Given the description of an element on the screen output the (x, y) to click on. 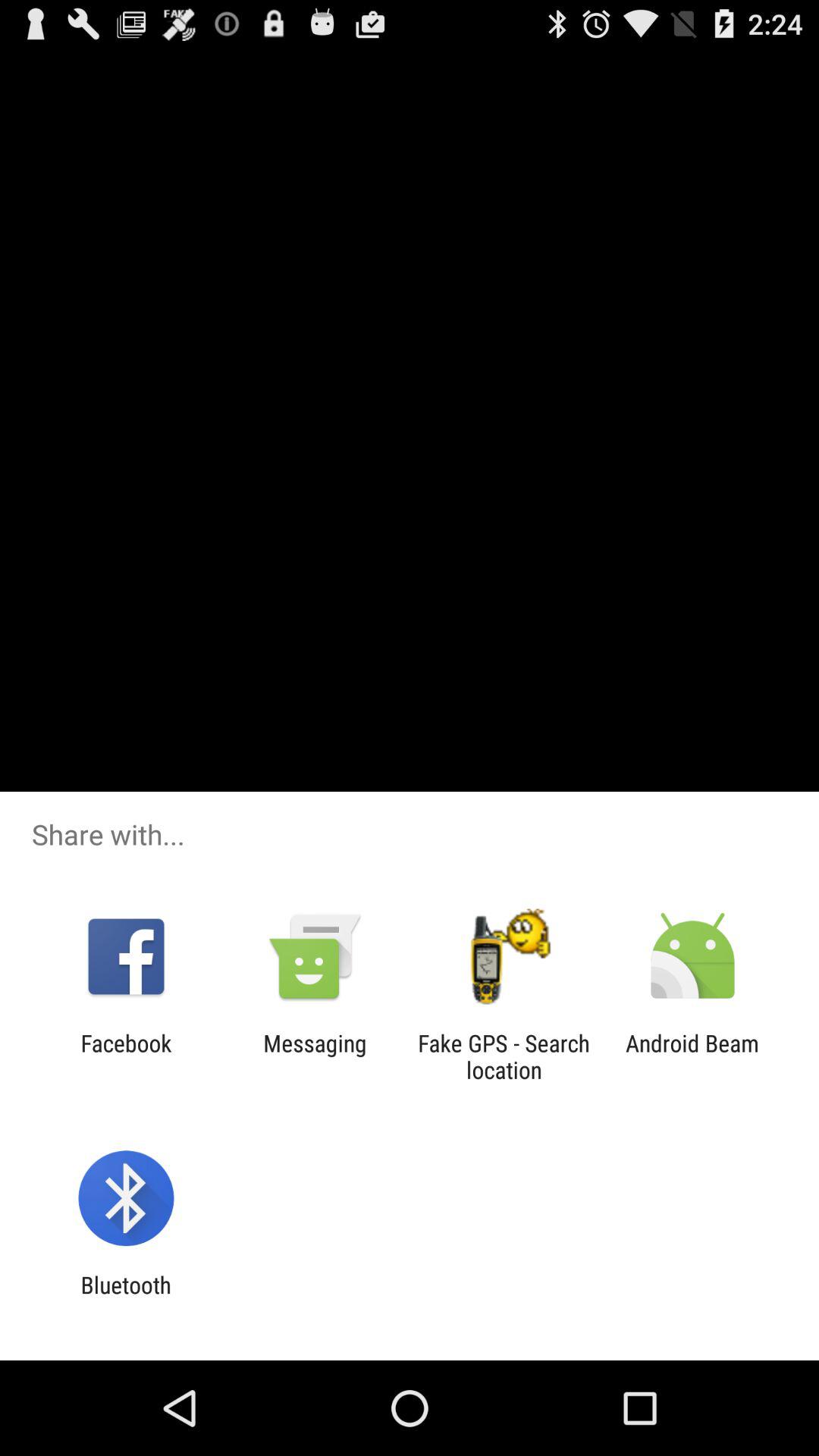
swipe until fake gps search icon (503, 1056)
